Given the description of an element on the screen output the (x, y) to click on. 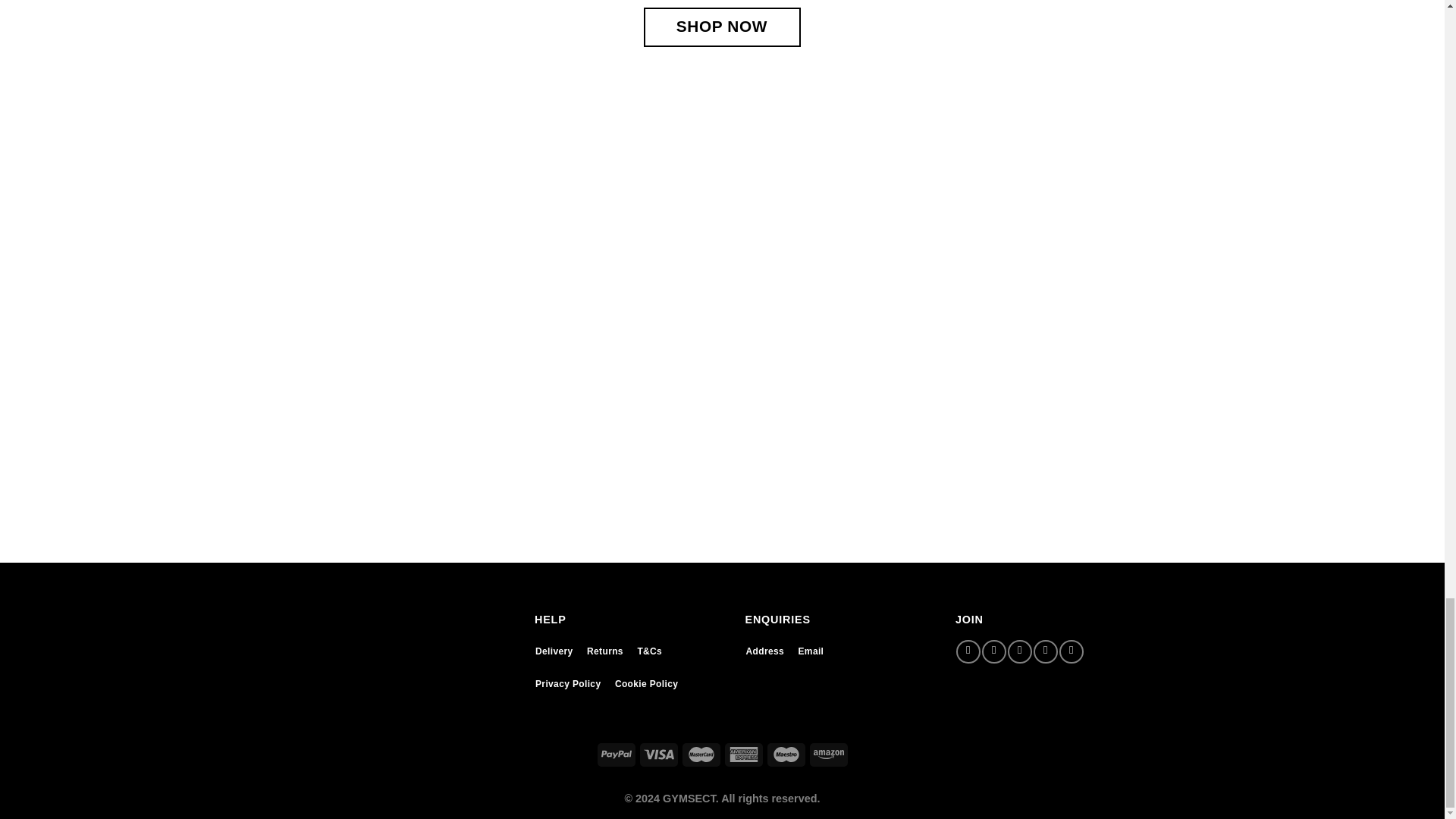
Address (764, 651)
Returns (605, 651)
Delivery (553, 651)
SHOP NOW (721, 26)
Email (811, 651)
Follow on Twitter (1018, 651)
Follow on LinkedIn (1045, 651)
Privacy Policy (567, 684)
Follow on YouTube (1071, 651)
Cookie Policy (646, 684)
